Given the description of an element on the screen output the (x, y) to click on. 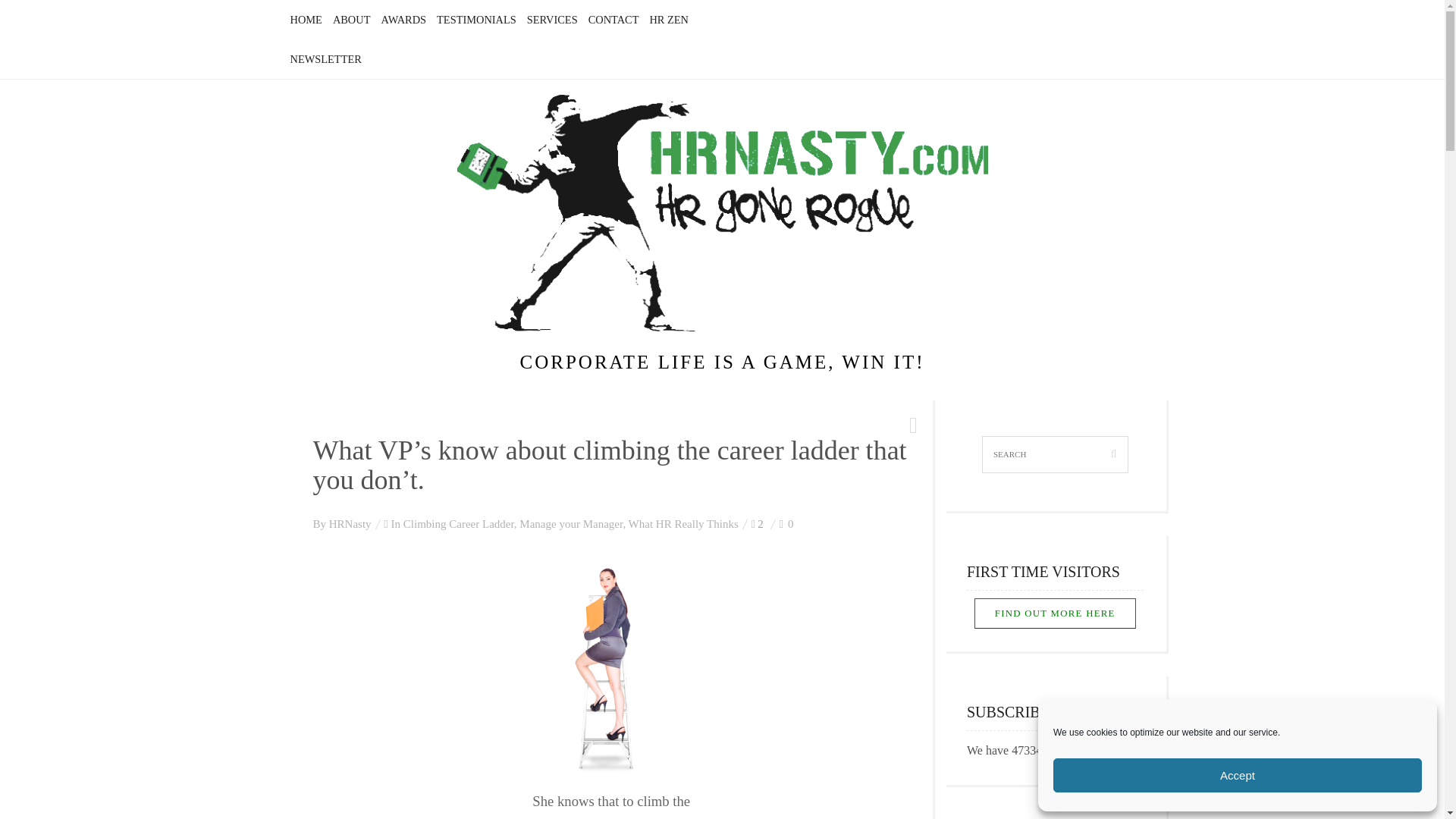
HOME (305, 19)
TESTIMONIALS (476, 19)
What HR Really Thinks (683, 523)
Posts by HRNasty (350, 523)
SERVICES (552, 19)
Corporate Life is a Game, Win It! (722, 213)
ABOUT (352, 19)
Manage your Manager (571, 523)
Like this (785, 523)
Climbing Career Ladder (458, 523)
Accept (1237, 775)
NEWSLETTER (325, 59)
HRNasty (350, 523)
CONTACT (613, 19)
HR ZEN (668, 19)
